Given the description of an element on the screen output the (x, y) to click on. 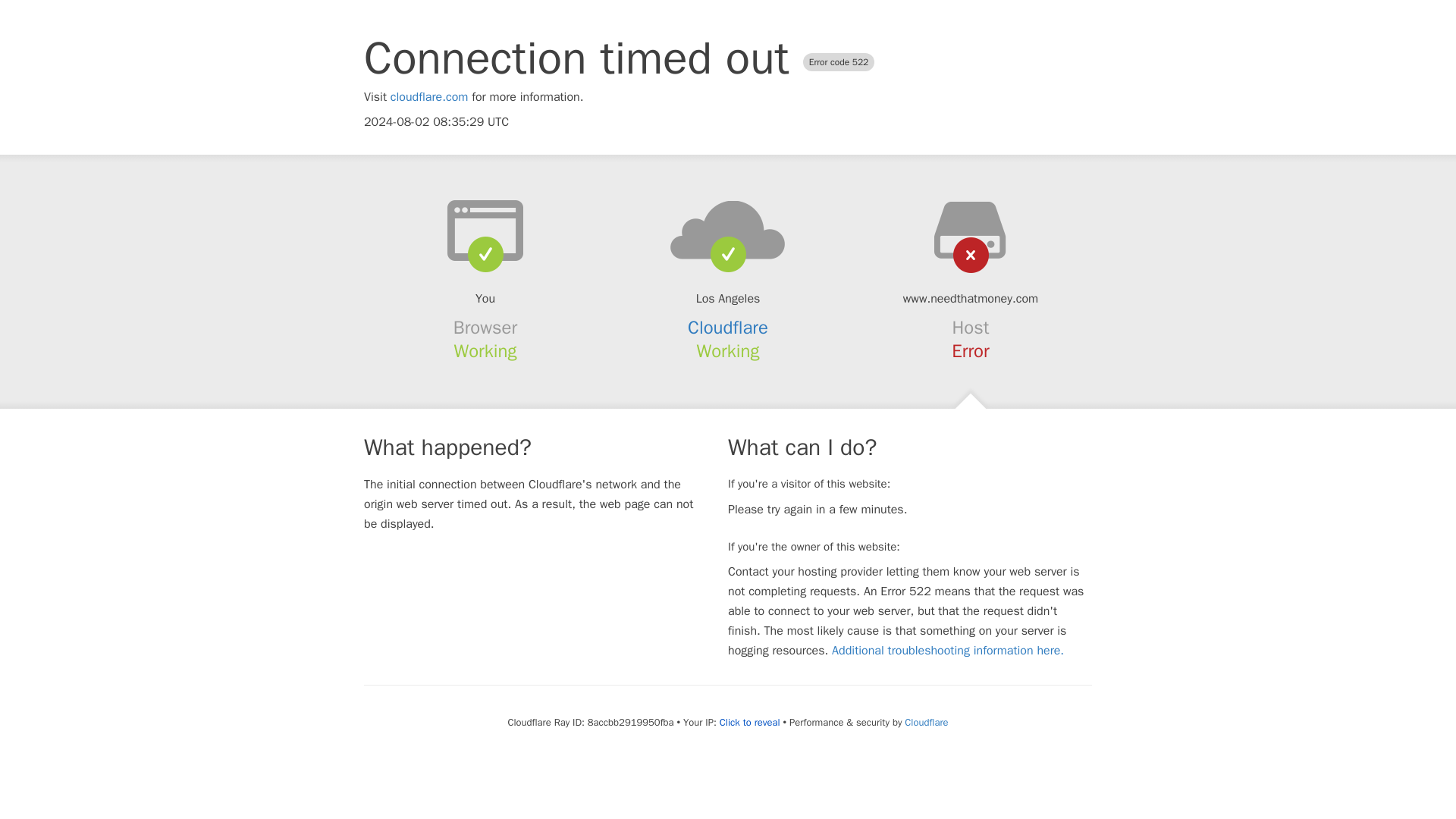
Additional troubleshooting information here. (947, 650)
Cloudflare (925, 721)
cloudflare.com (429, 96)
Click to reveal (749, 722)
Cloudflare (727, 327)
